Given the description of an element on the screen output the (x, y) to click on. 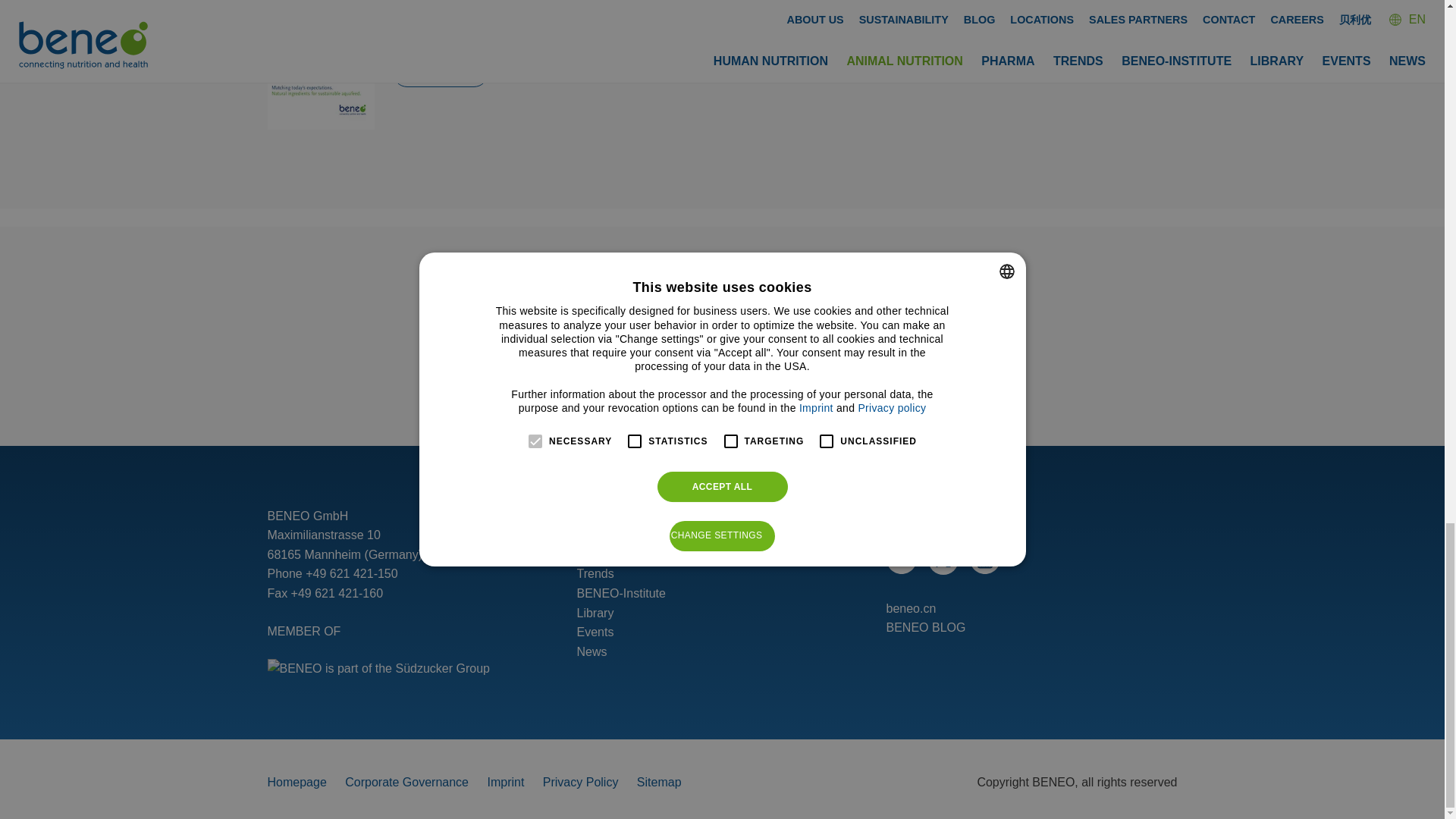
Follow Us on youtube (983, 570)
Follow Us on twitter (943, 559)
Follow Us on linkedin (900, 570)
